Given the description of an element on the screen output the (x, y) to click on. 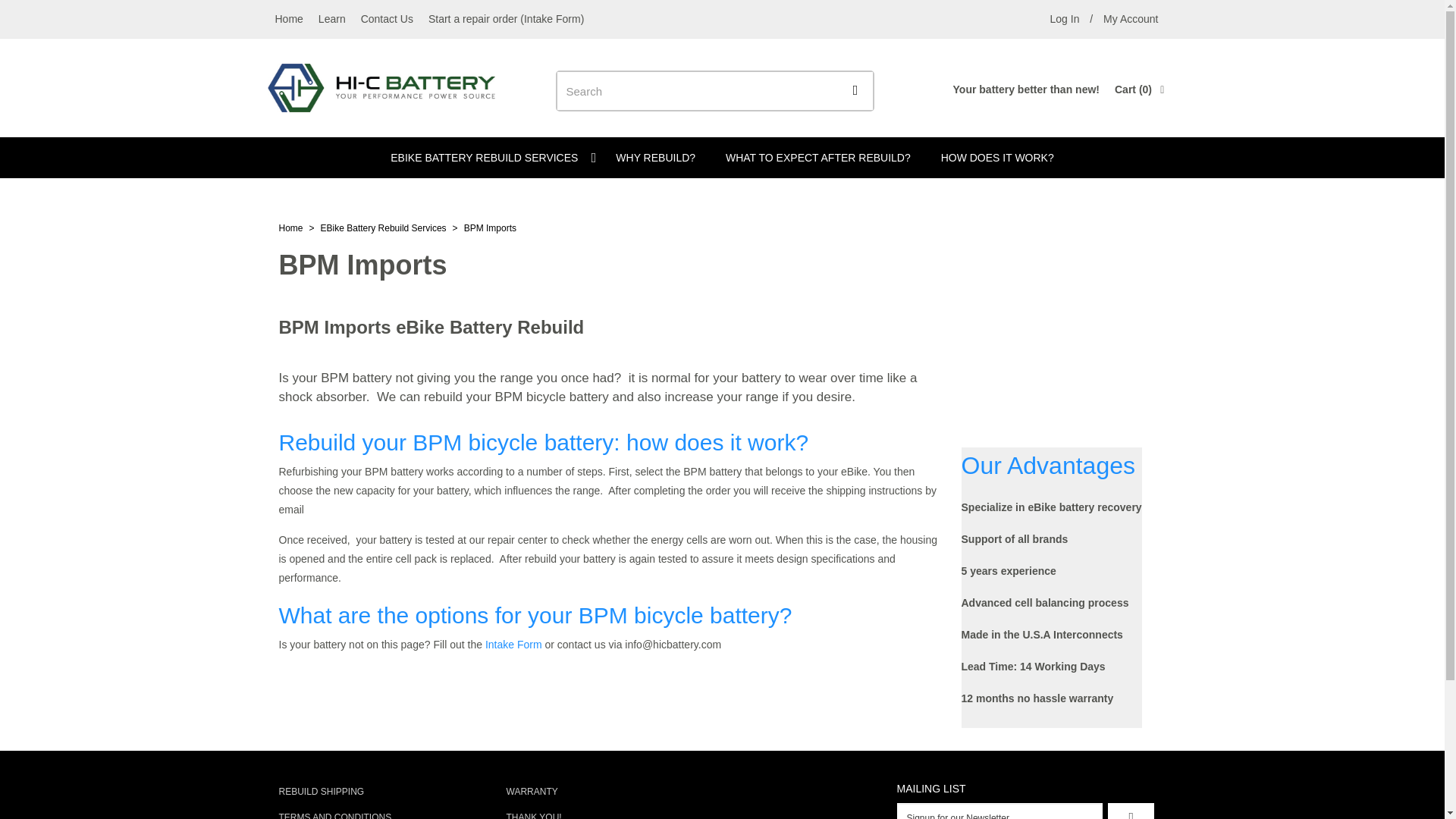
Home (1064, 18)
Learn (288, 18)
EBIKE BATTERY REBUILD SERVICES (332, 18)
Contact Us (487, 157)
